Given the description of an element on the screen output the (x, y) to click on. 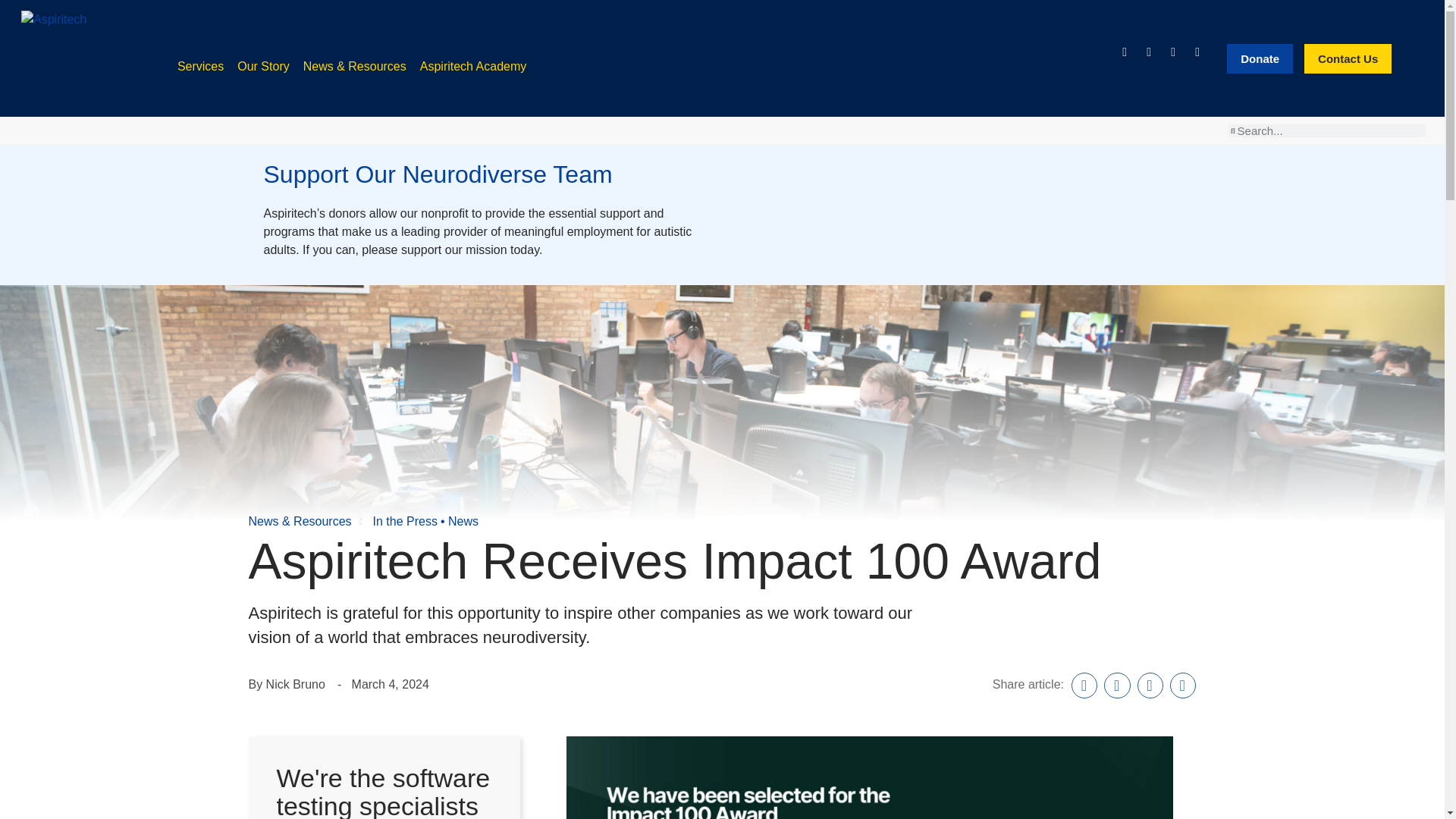
Services (200, 66)
Our Story (262, 66)
Aspiritech Academy (473, 66)
